Given the description of an element on the screen output the (x, y) to click on. 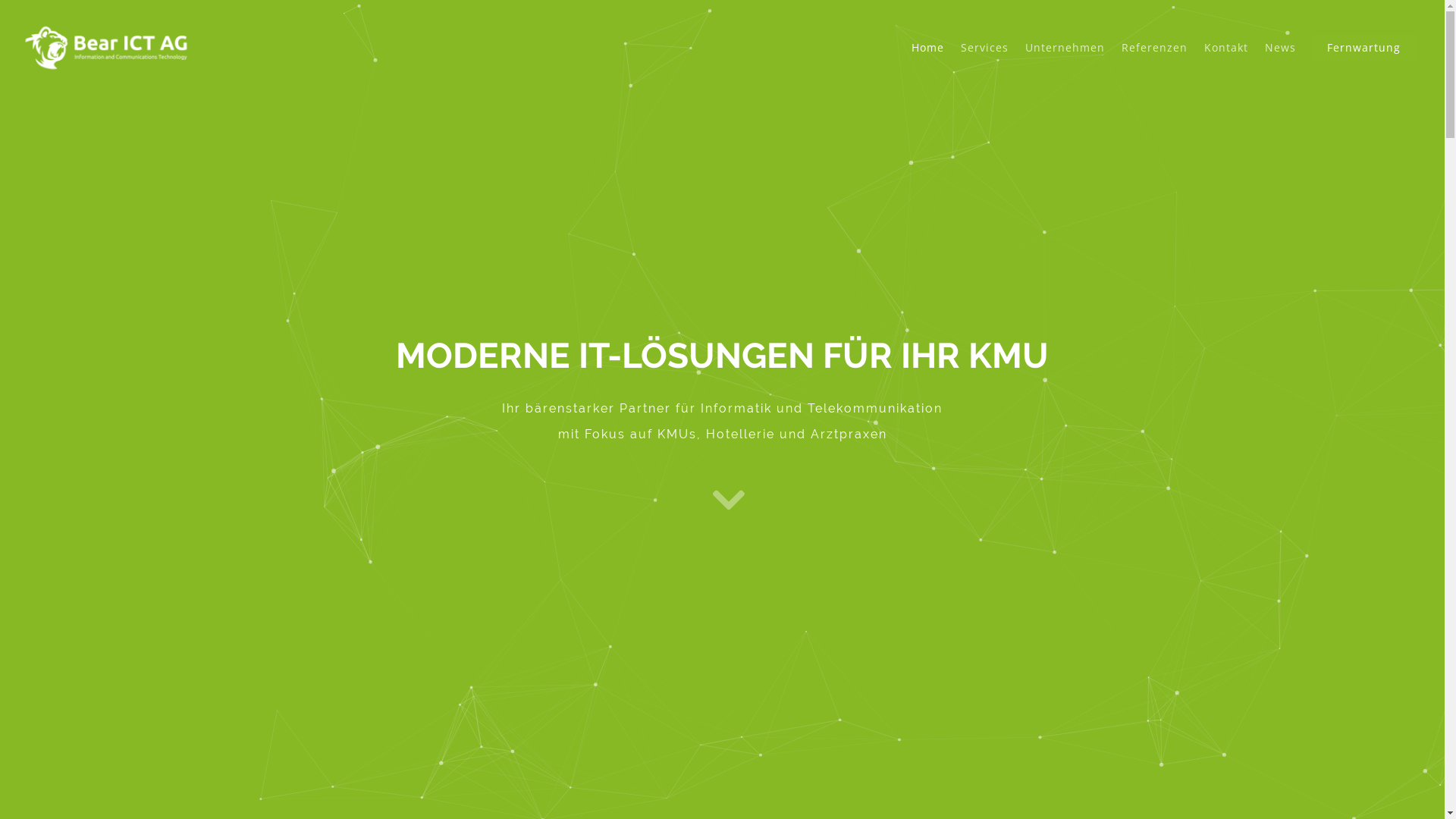
Unternehmen Element type: text (1064, 58)
News Element type: text (1280, 58)
Referenzen Element type: text (1154, 58)
Kontakt Element type: text (1225, 58)
Home Element type: text (927, 58)
Fernwartung Element type: text (1363, 58)
Services Element type: text (984, 58)
